Given the description of an element on the screen output the (x, y) to click on. 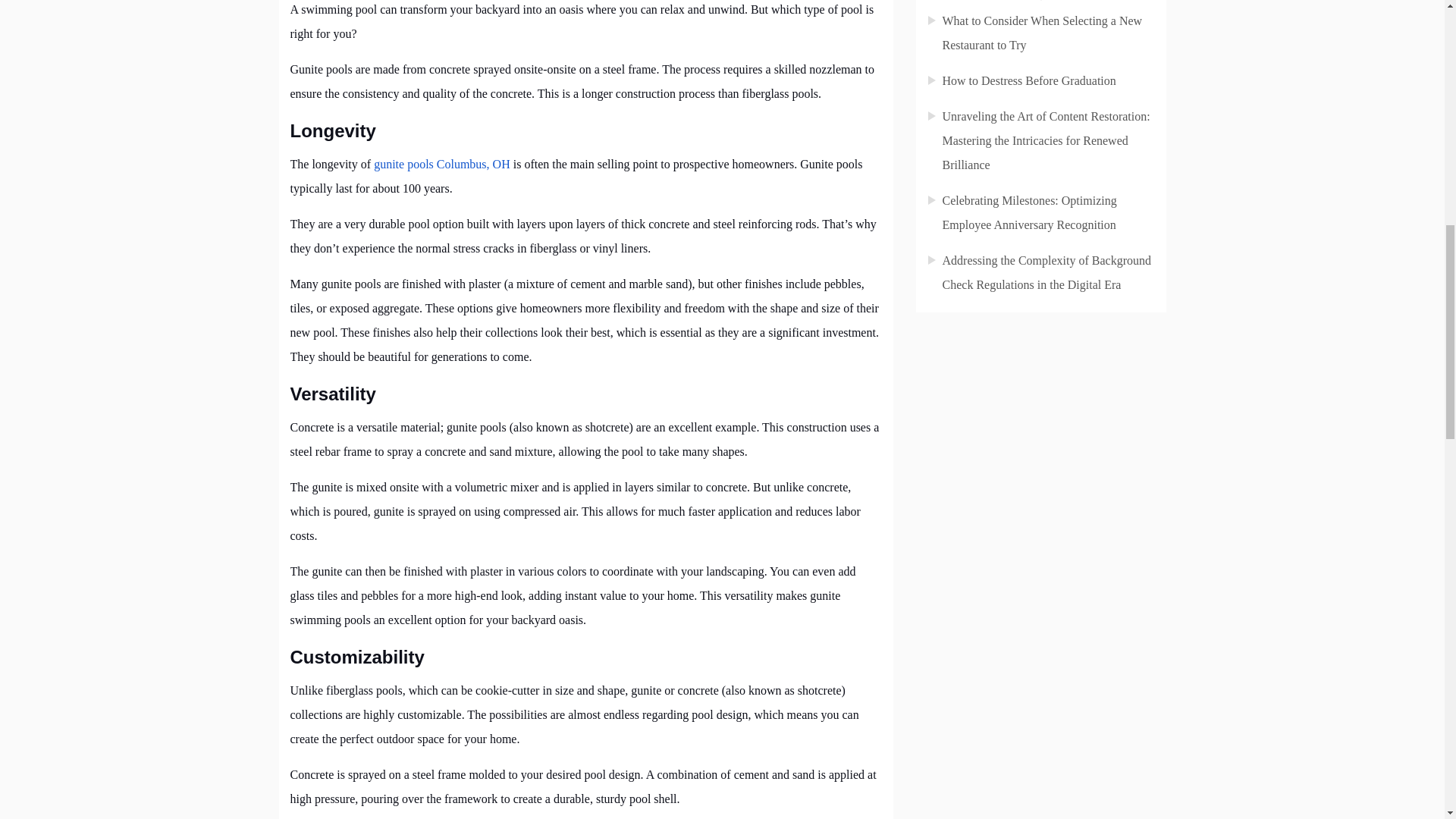
gunite pools Columbus, OH (442, 164)
What to Consider When Selecting a New Restaurant to Try (1041, 32)
How to Destress Before Graduation (1028, 80)
